Given the description of an element on the screen output the (x, y) to click on. 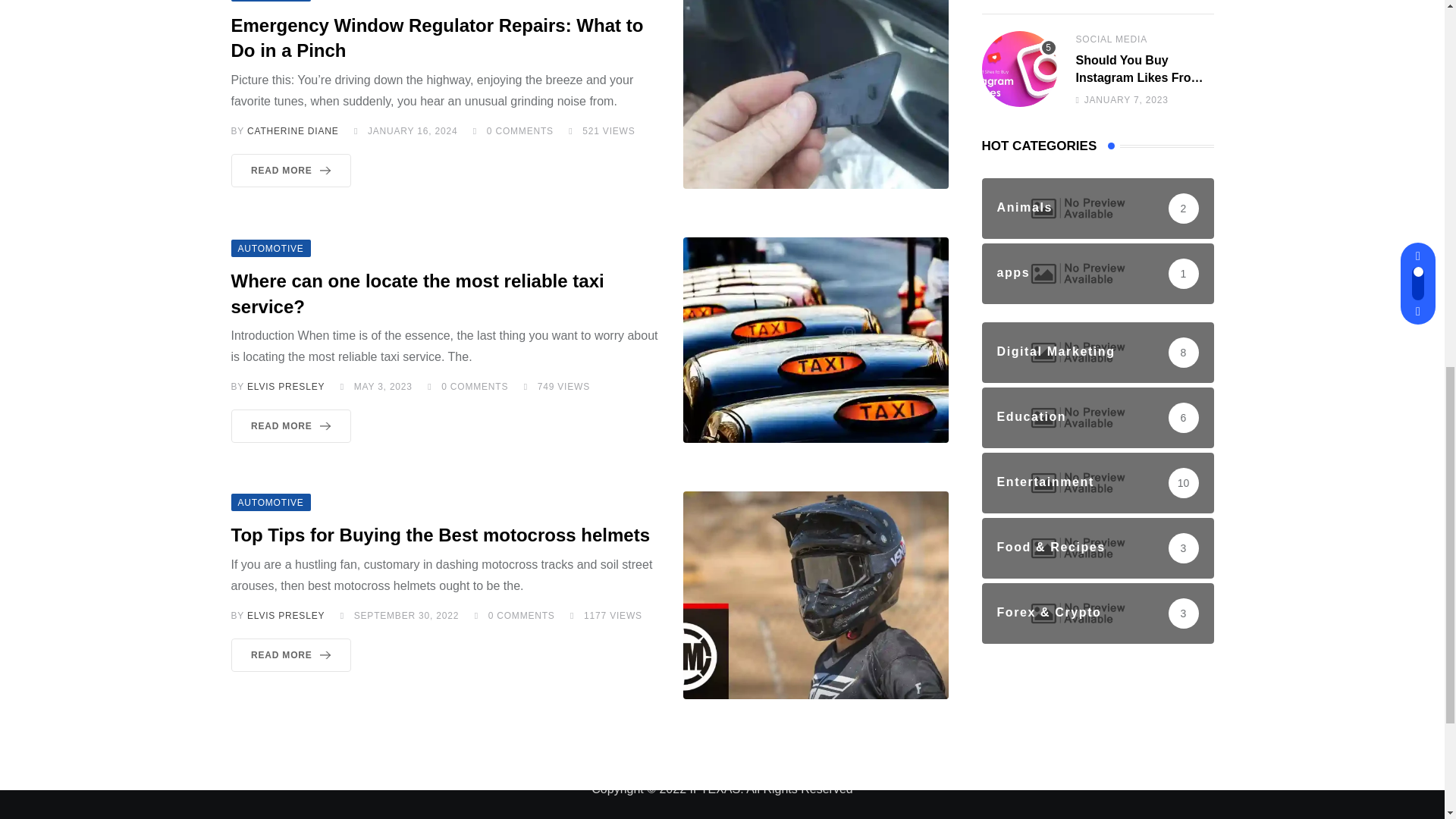
Posts by Elvis Presley (285, 386)
Posts by Elvis Presley (285, 615)
Should You Buy Instagram Likes From Goread? (1019, 69)
Posts by Catherine Diane (292, 131)
